Given the description of an element on the screen output the (x, y) to click on. 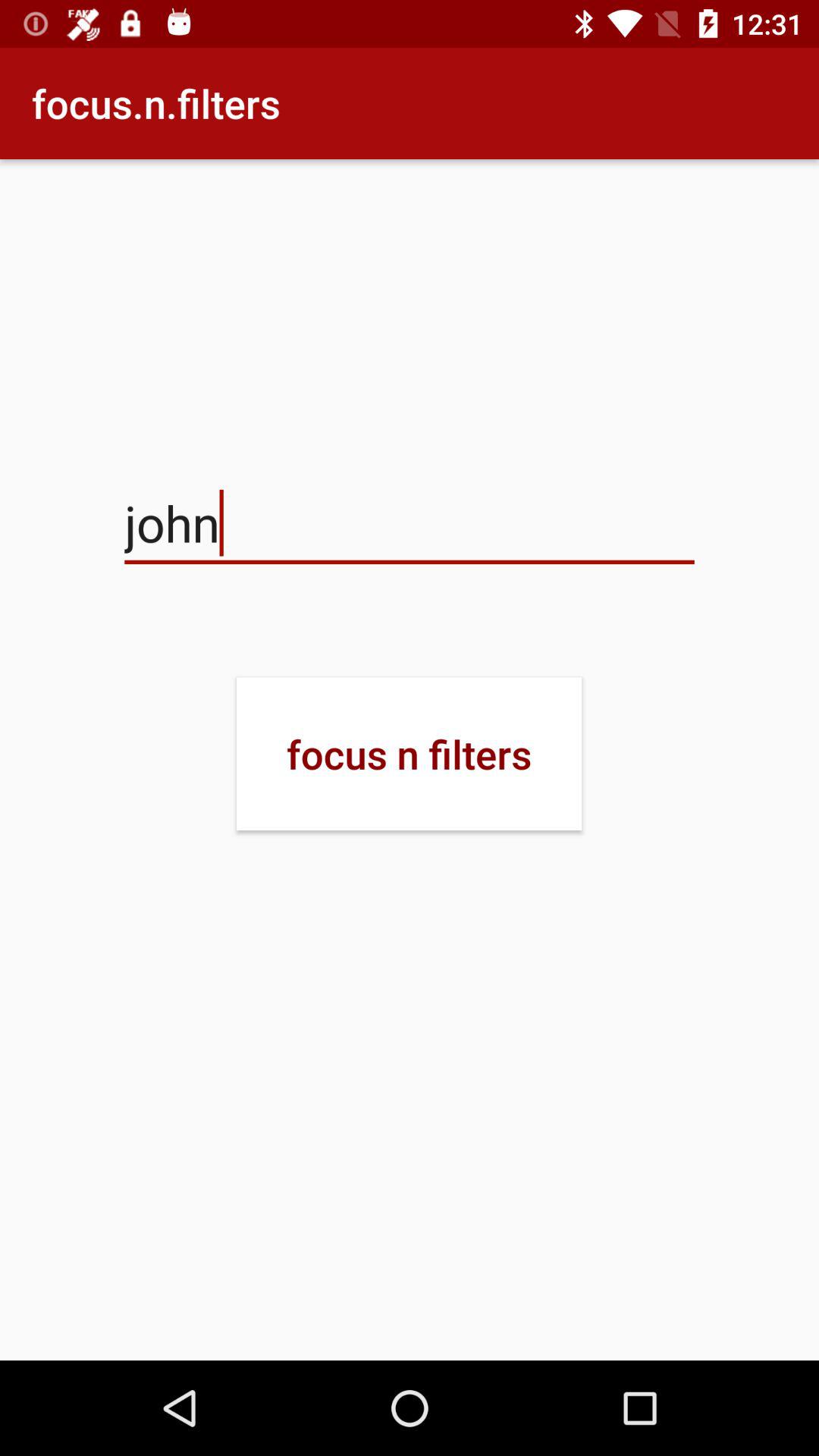
scroll until john (409, 523)
